Given the description of an element on the screen output the (x, y) to click on. 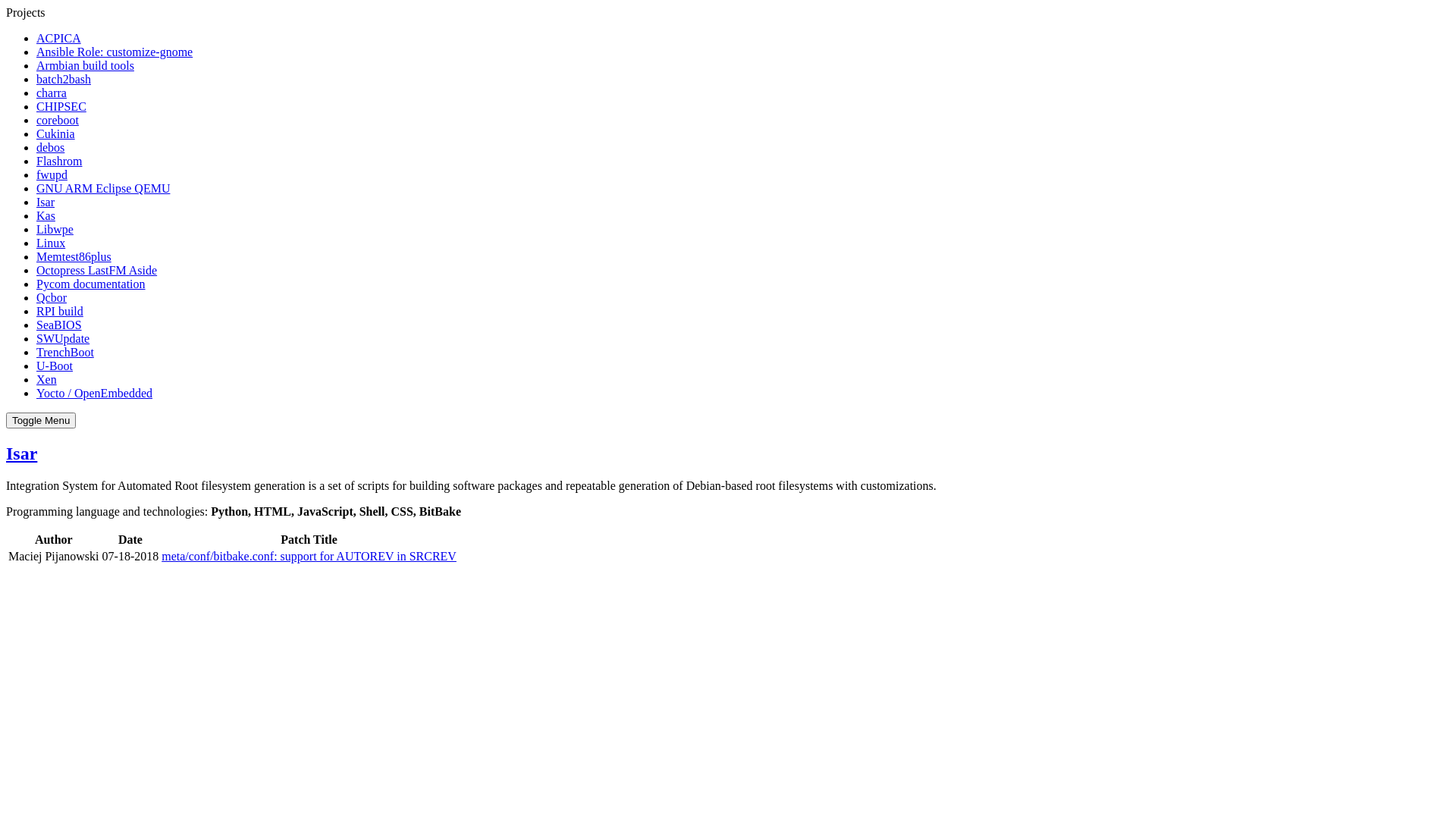
batch2bash Element type: text (63, 78)
Cukinia Element type: text (55, 133)
Flashrom Element type: text (58, 160)
Pycom documentation Element type: text (90, 283)
SeaBIOS Element type: text (58, 324)
Memtest86plus Element type: text (73, 256)
TrenchBoot Element type: text (65, 351)
Armbian build tools Element type: text (85, 65)
Toggle Menu Element type: text (40, 420)
charra Element type: text (51, 92)
Libwpe Element type: text (54, 228)
CHIPSEC Element type: text (61, 106)
meta/conf/bitbake.conf: support for AUTOREV in SRCREV Element type: text (308, 555)
fwupd Element type: text (51, 174)
coreboot Element type: text (57, 119)
Yocto / OpenEmbedded Element type: text (94, 392)
Isar Element type: text (45, 201)
RPI build Element type: text (59, 310)
Xen Element type: text (46, 379)
U-Boot Element type: text (54, 365)
Qcbor Element type: text (51, 297)
SWUpdate Element type: text (62, 338)
Isar Element type: text (21, 453)
Octopress LastFM Aside Element type: text (96, 269)
Kas Element type: text (45, 215)
debos Element type: text (50, 147)
Linux Element type: text (50, 242)
GNU ARM Eclipse QEMU Element type: text (102, 188)
ACPICA Element type: text (58, 37)
Ansible Role: customize-gnome Element type: text (114, 51)
